Given the description of an element on the screen output the (x, y) to click on. 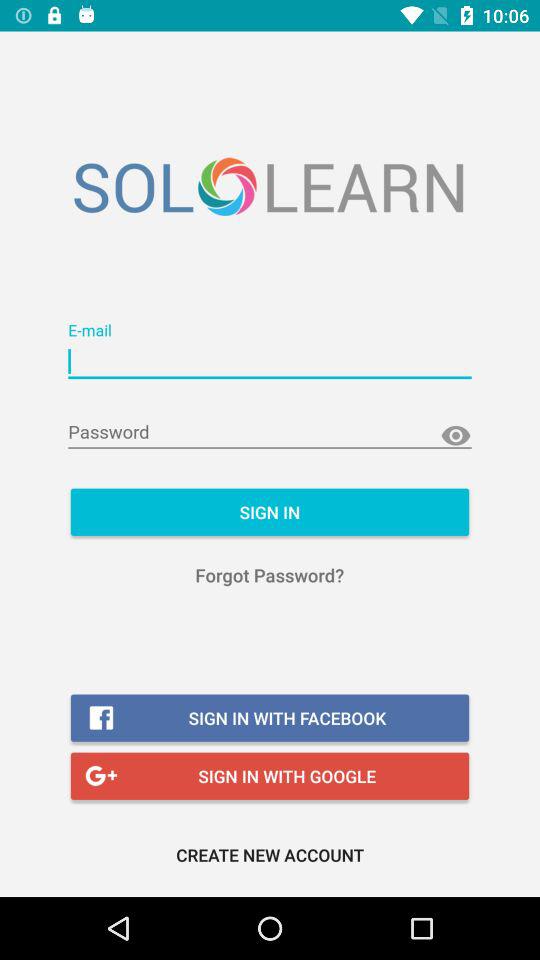
click create new account icon (269, 854)
